Given the description of an element on the screen output the (x, y) to click on. 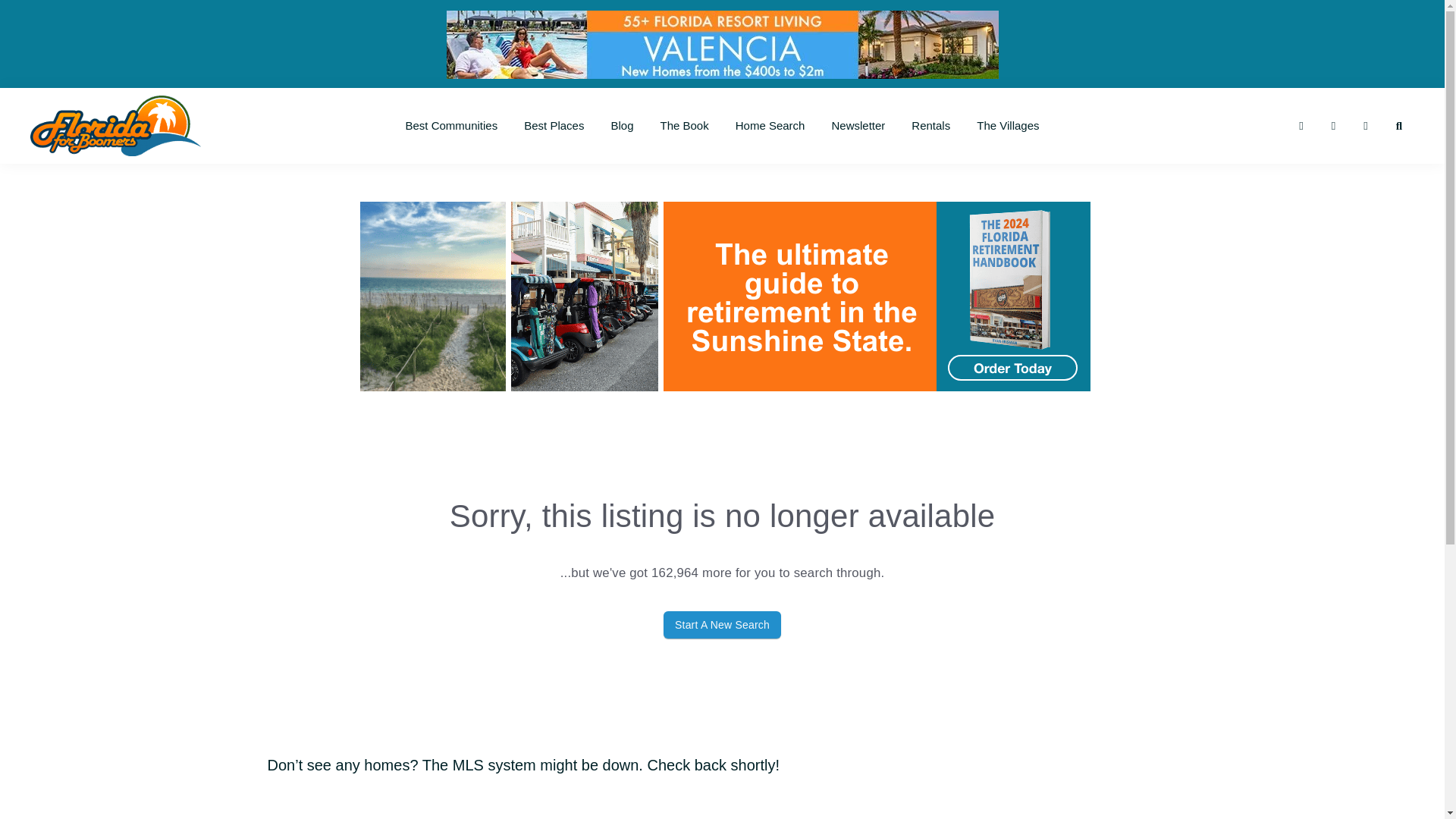
Home Search (769, 125)
Best Communities (450, 125)
Rentals (929, 125)
The Book (684, 125)
Blog (621, 125)
Best Places (553, 125)
The Villages (1007, 125)
Start A New Search (721, 624)
Newsletter (857, 125)
